Given the description of an element on the screen output the (x, y) to click on. 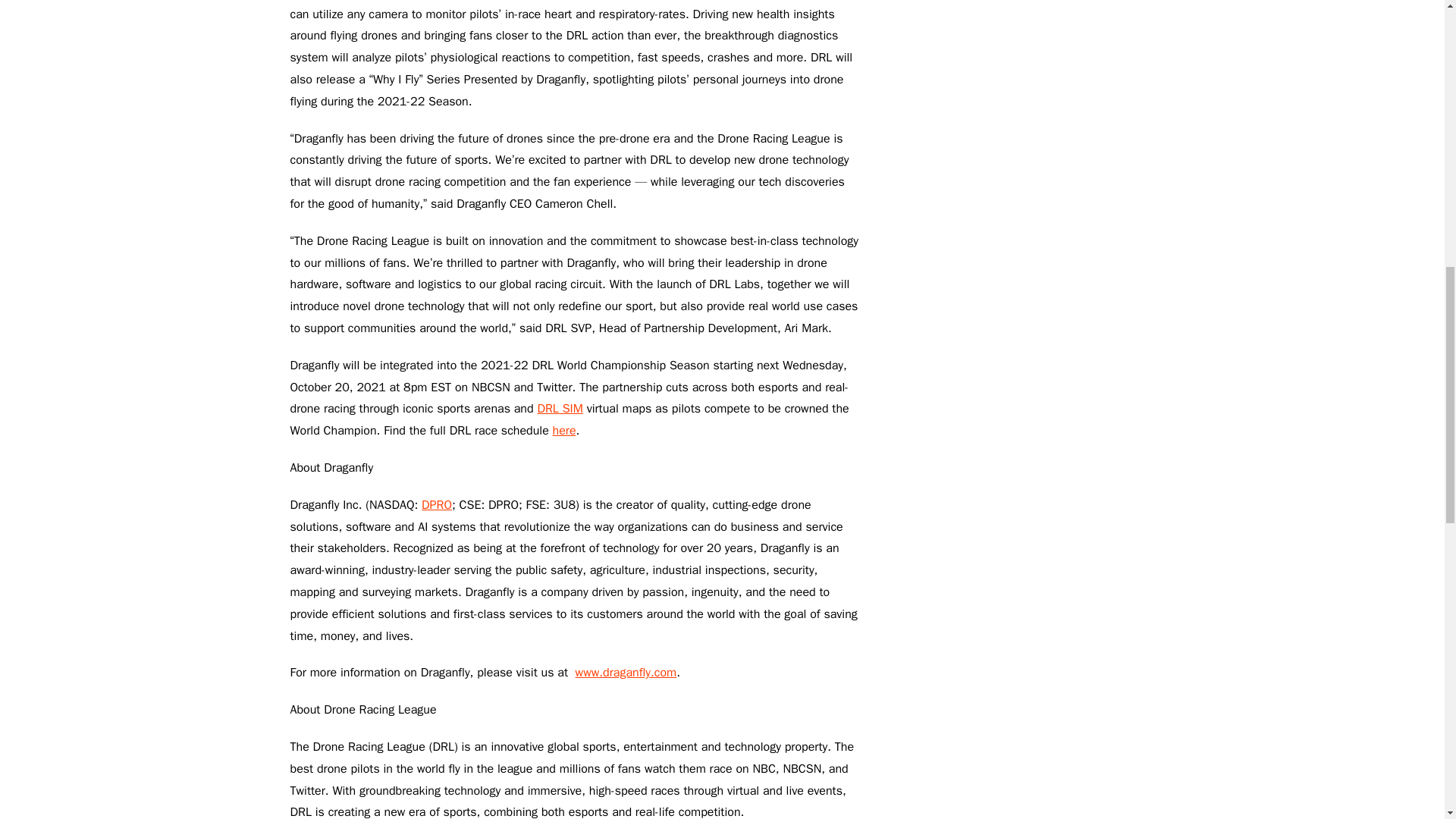
DPRO (436, 504)
www.draganfly.com (626, 672)
DRL SIM (559, 408)
here (564, 430)
